Given the description of an element on the screen output the (x, y) to click on. 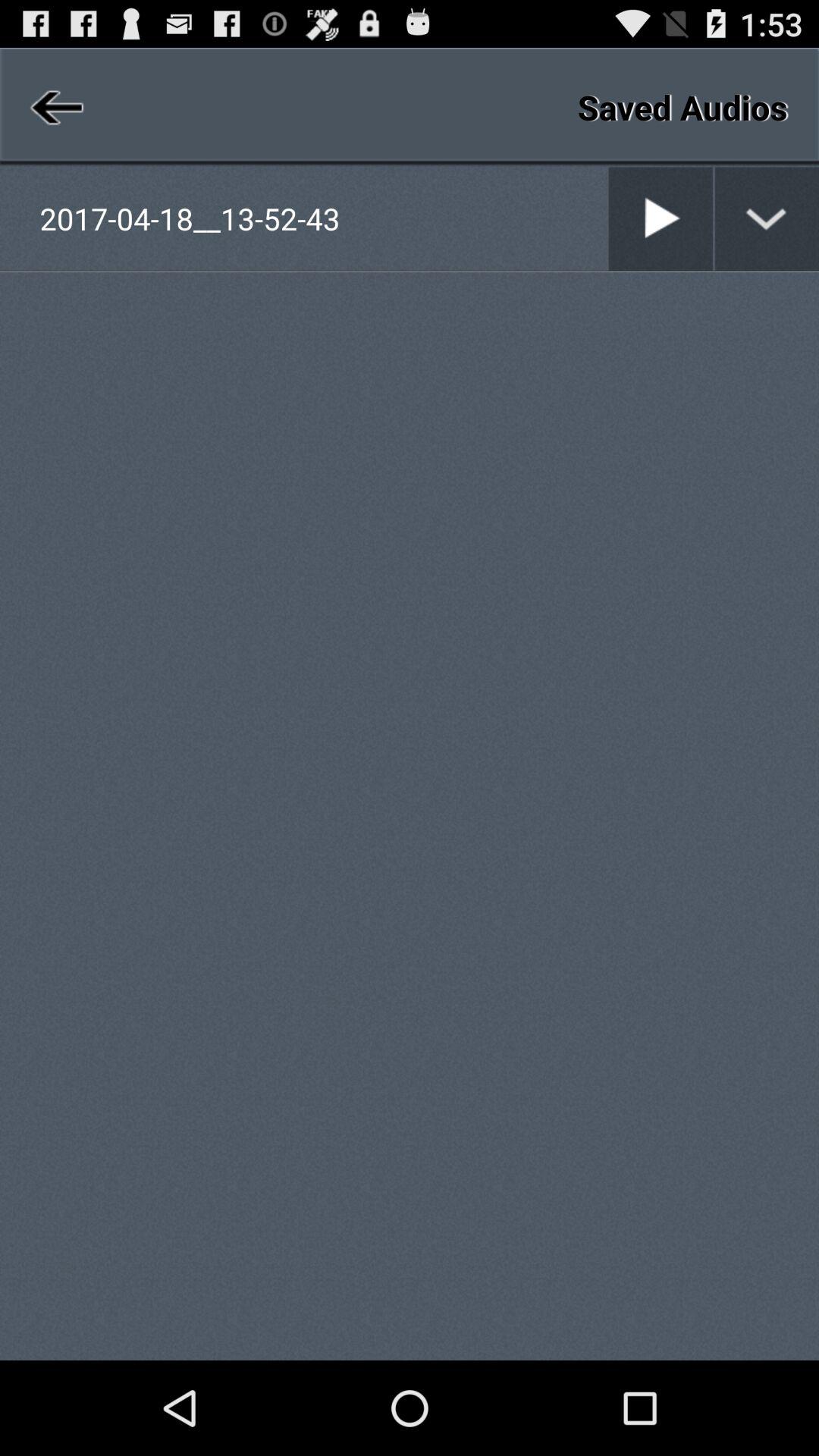
drop menu (767, 218)
